Given the description of an element on the screen output the (x, y) to click on. 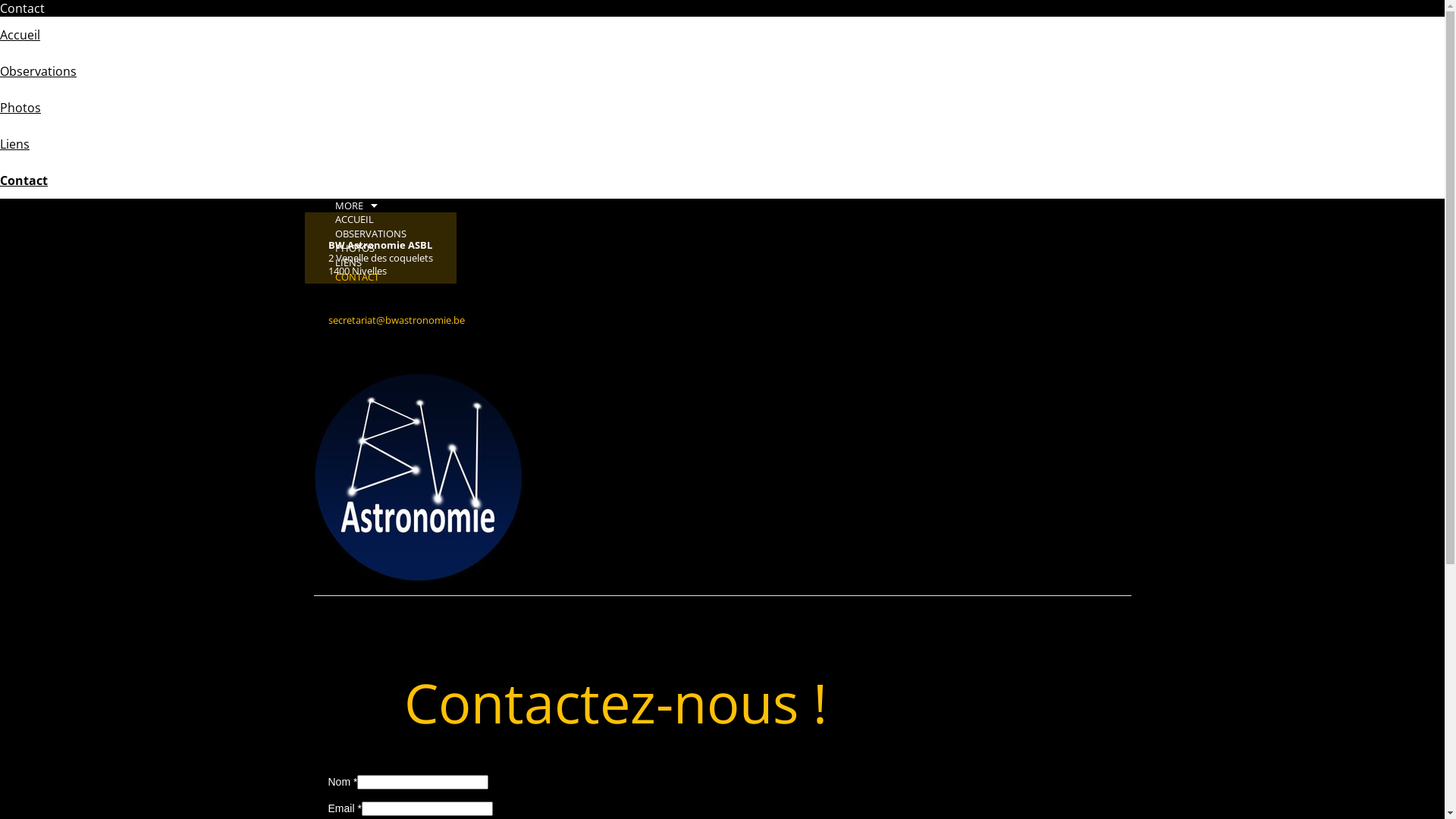
Accueil Element type: text (20, 34)
LIENS Element type: text (342, 261)
Photos Element type: text (20, 107)
CONTACT Element type: text (351, 275)
Observations Element type: text (38, 70)
PHOTOS Element type: text (348, 247)
Contact Element type: text (23, 180)
ACCUEIL Element type: text (348, 218)
MORE Element type: text (355, 206)
secretariat@bwastronomie.be Element type: text (395, 319)
Liens Element type: text (14, 143)
OBSERVATIONS Element type: text (364, 232)
